Given the description of an element on the screen output the (x, y) to click on. 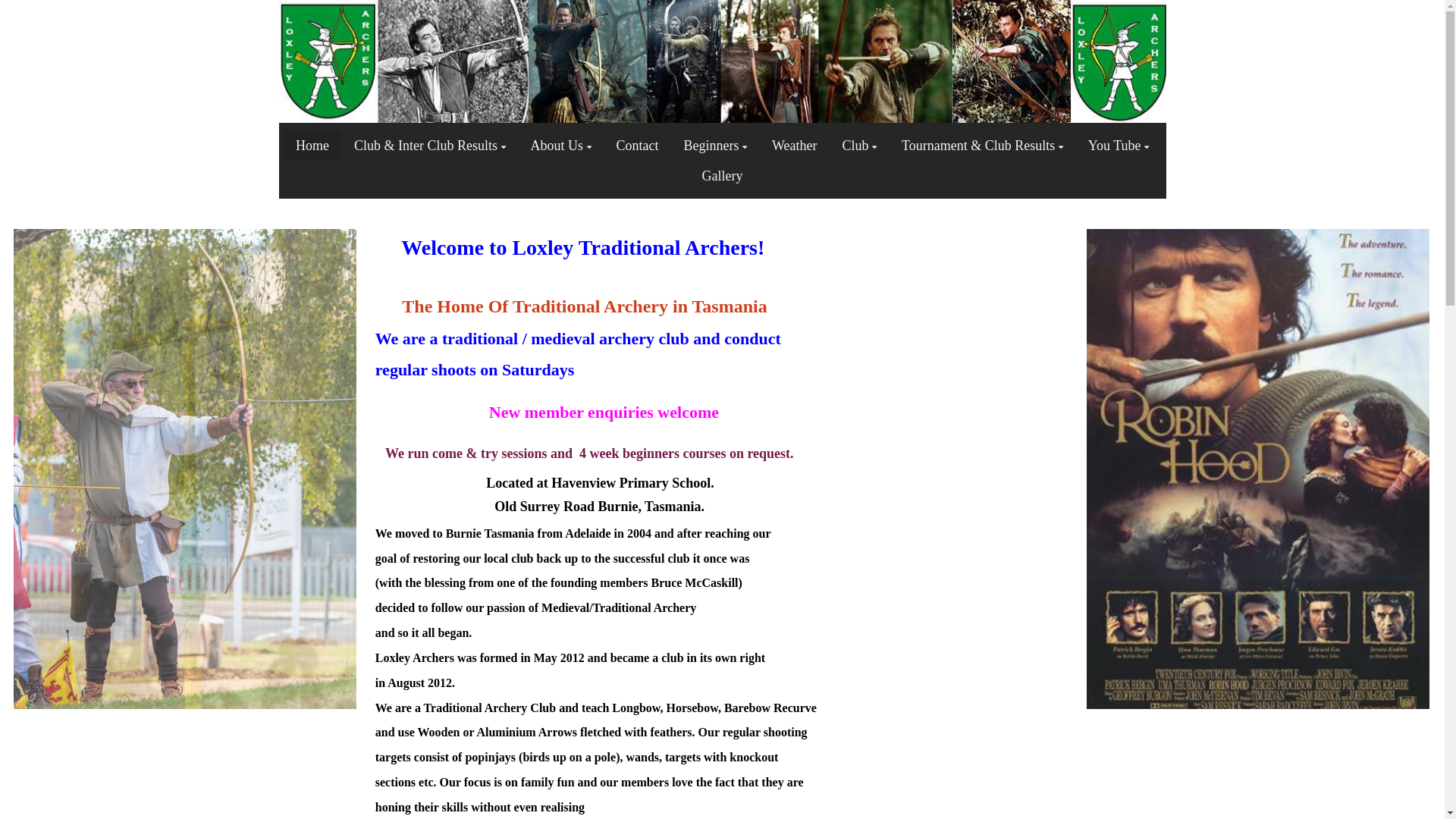
Club & Inter Club Results Element type: text (429, 145)
Tournament & Club Results Element type: text (982, 145)
Contact Element type: text (637, 145)
Home Element type: text (312, 145)
Gallery Element type: text (721, 175)
You Tube Element type: text (1118, 145)
About Us Element type: text (560, 145)
Club Element type: text (859, 145)
Beginners Element type: text (715, 145)
Weather Element type: text (794, 145)
